Given the description of an element on the screen output the (x, y) to click on. 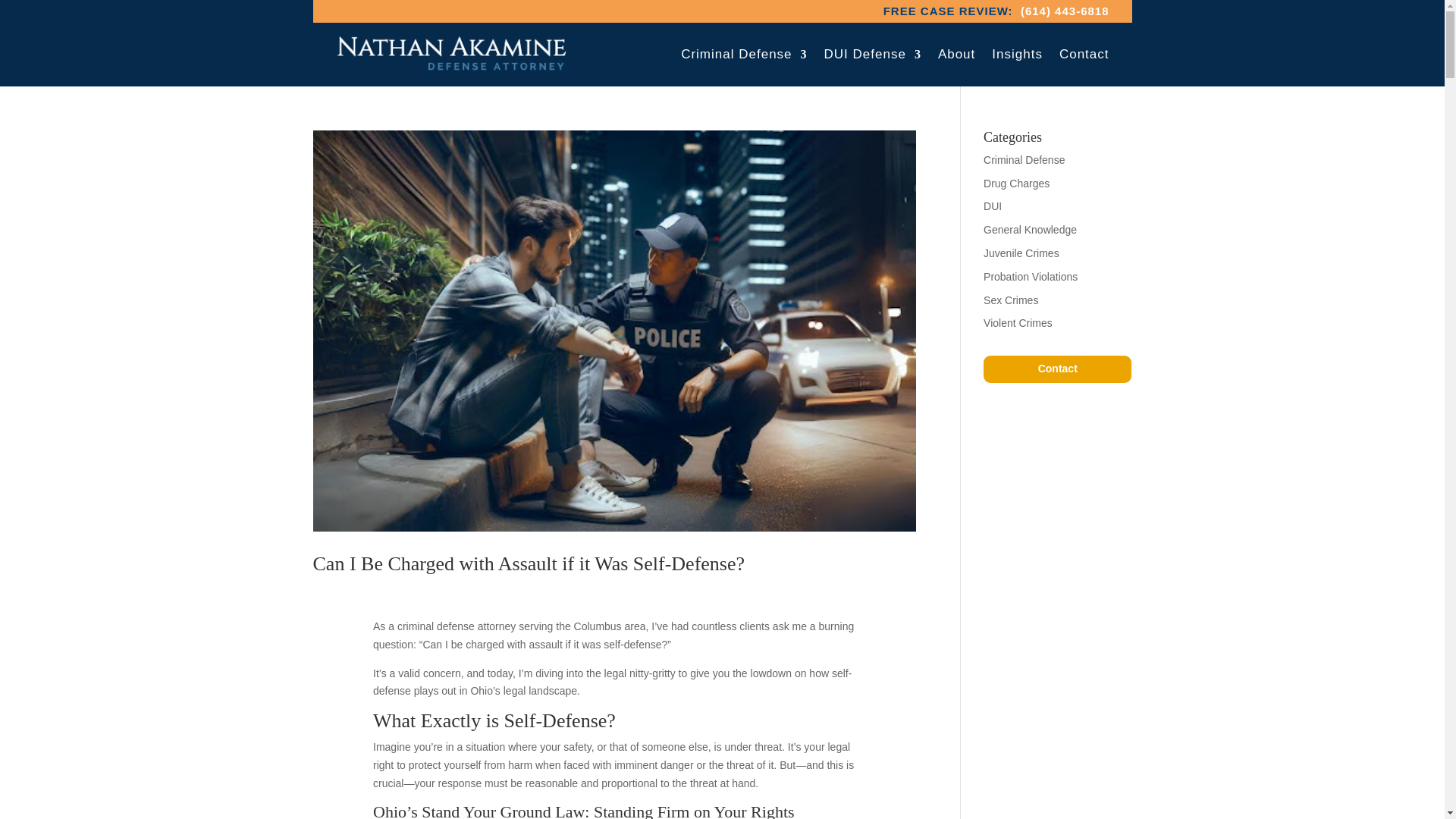
DUI Defense (872, 54)
Criminal Defense (743, 54)
Can I Be Charged with Assault if it Was Self-Defense? (528, 563)
About (956, 54)
Insights (1016, 54)
Contact (1084, 54)
